Given the description of an element on the screen output the (x, y) to click on. 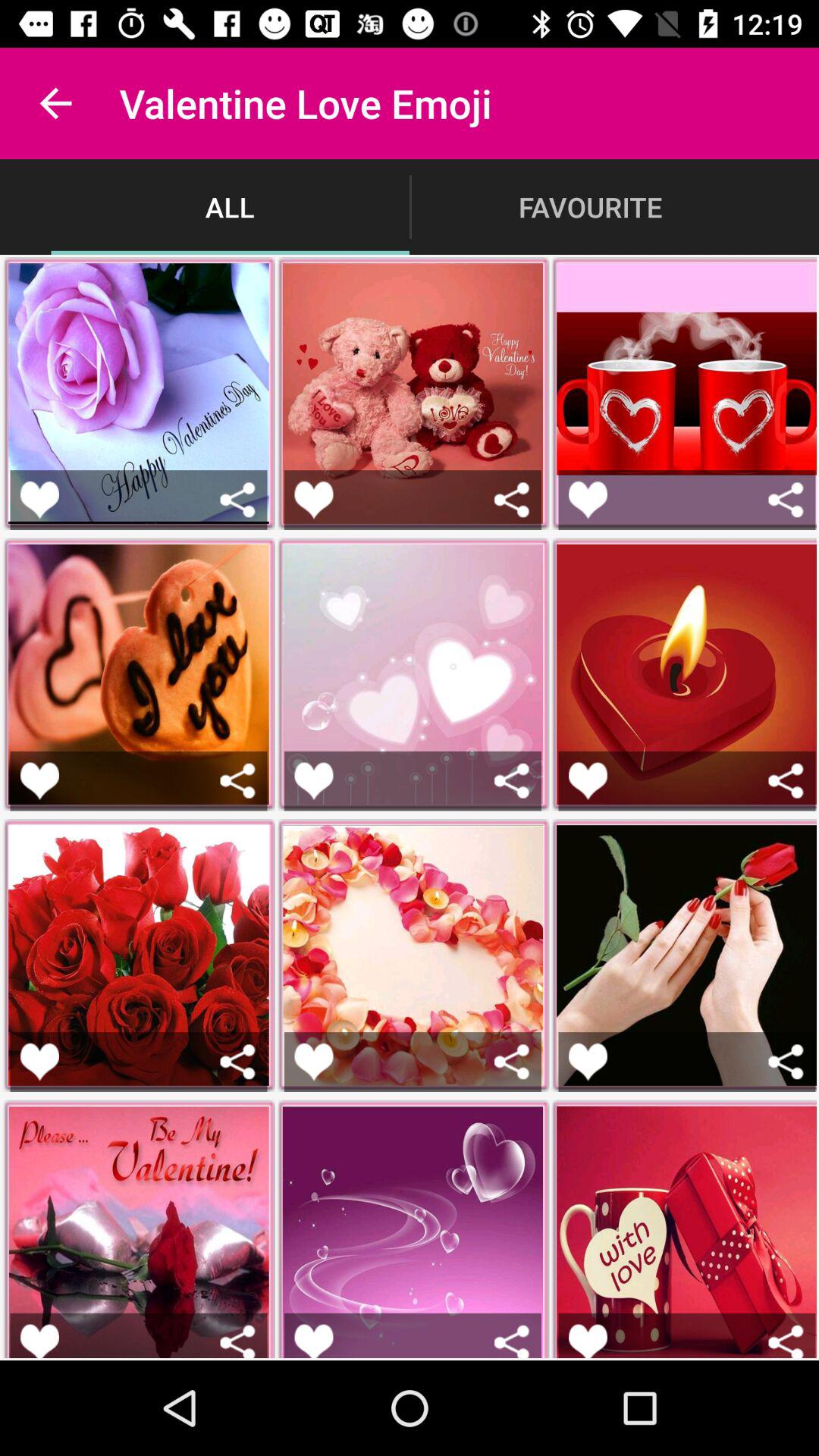
like emoji (587, 780)
